Given the description of an element on the screen output the (x, y) to click on. 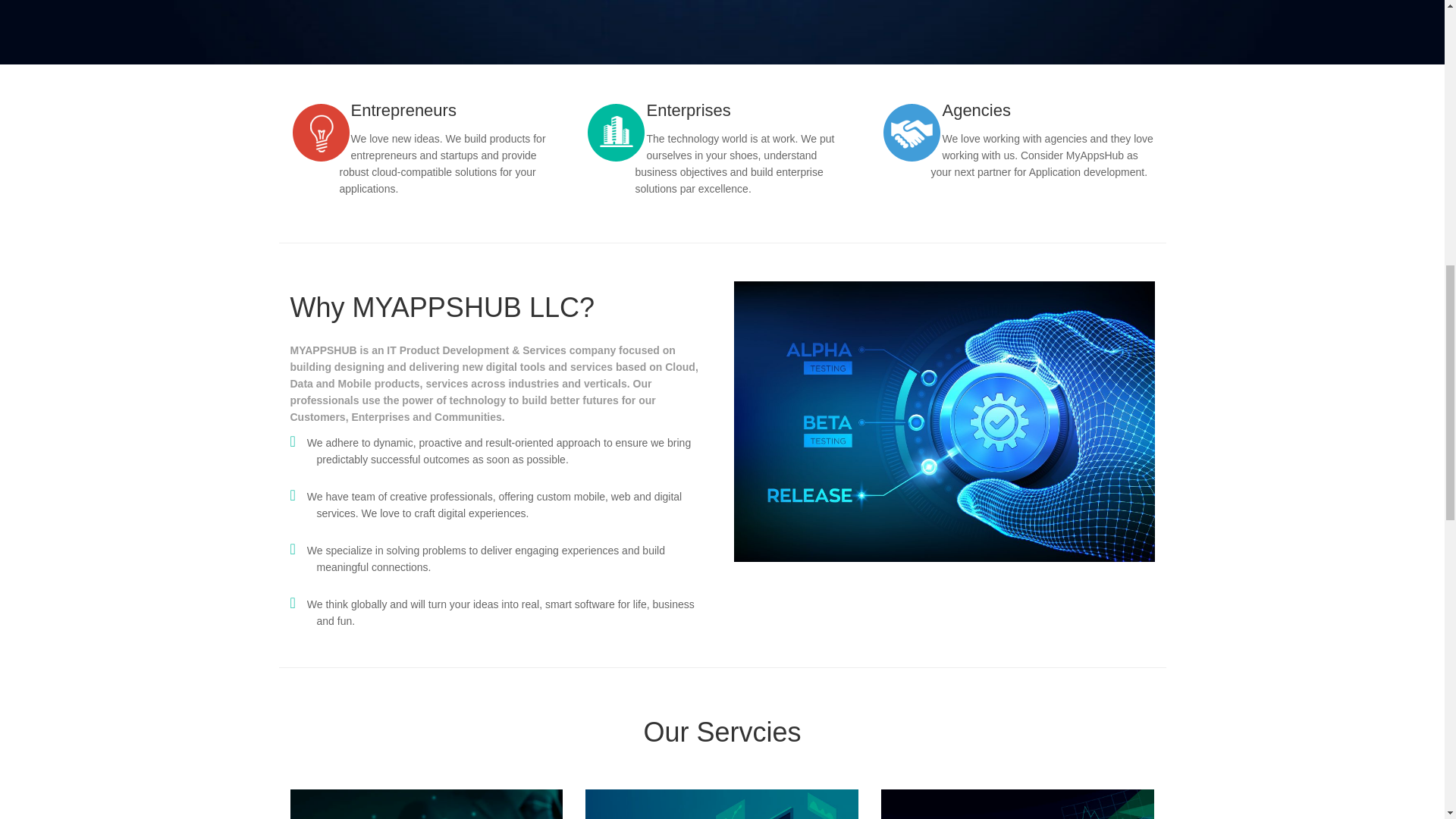
Containerization (722, 804)
DevOps (1017, 804)
Cloud Computing (425, 804)
